Given the description of an element on the screen output the (x, y) to click on. 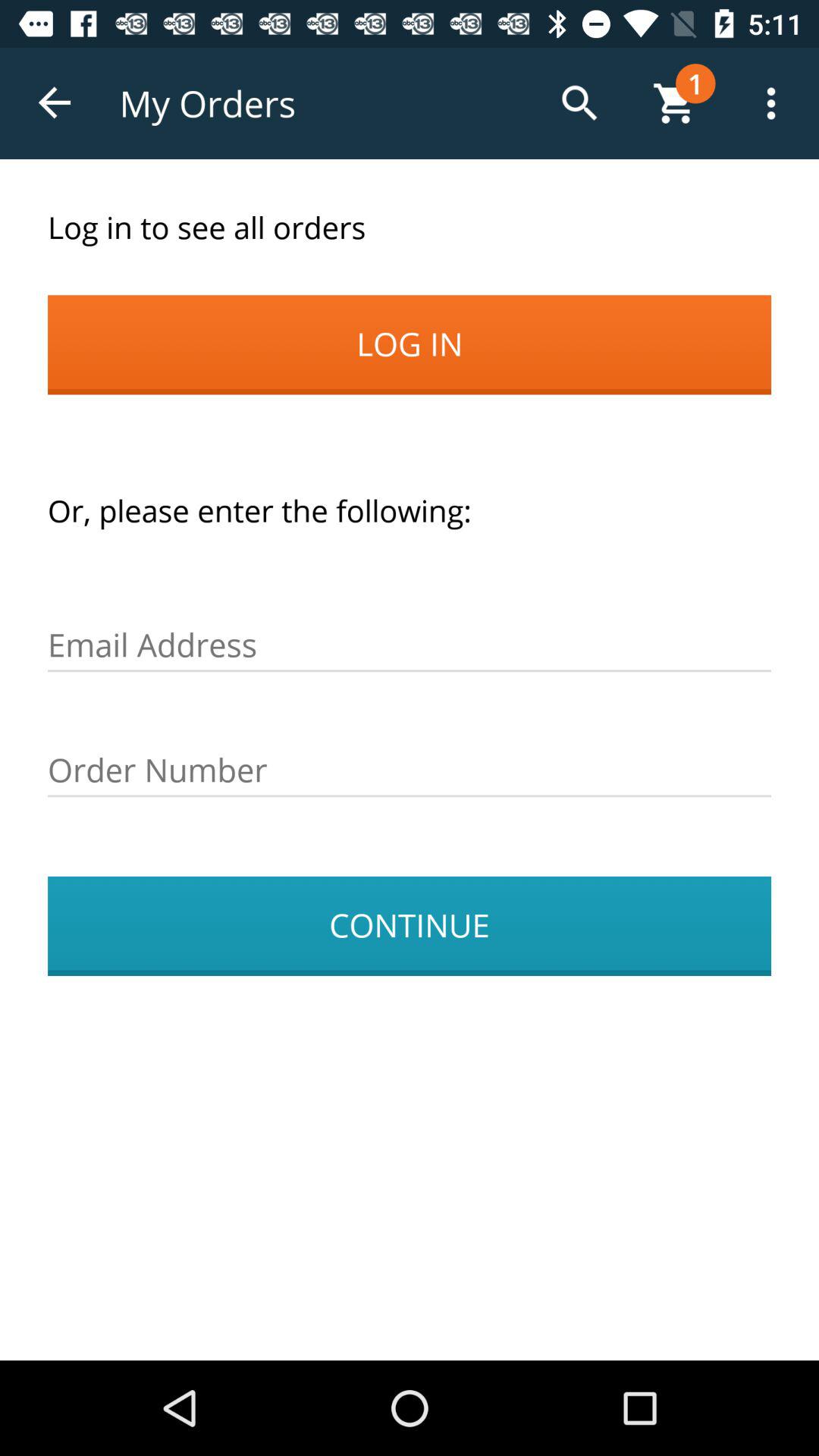
choose the icon above the log in to (55, 103)
